Given the description of an element on the screen output the (x, y) to click on. 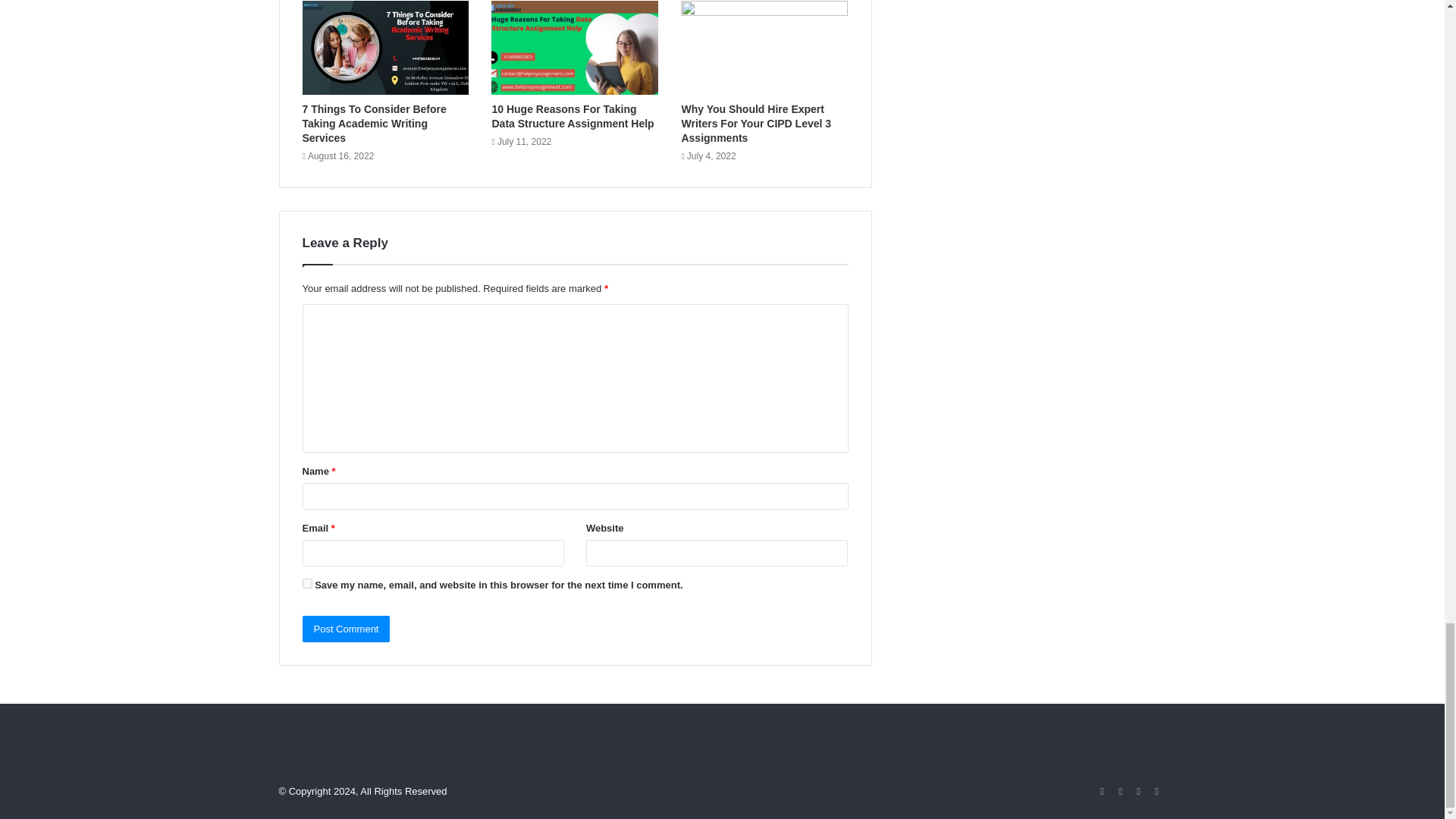
7 Things To Consider Before Taking Academic Writing Services (373, 123)
yes (306, 583)
10 Huge Reasons For Taking Data Structure Assignment Help (572, 116)
Post Comment (345, 628)
Post Comment (345, 628)
